Given the description of an element on the screen output the (x, y) to click on. 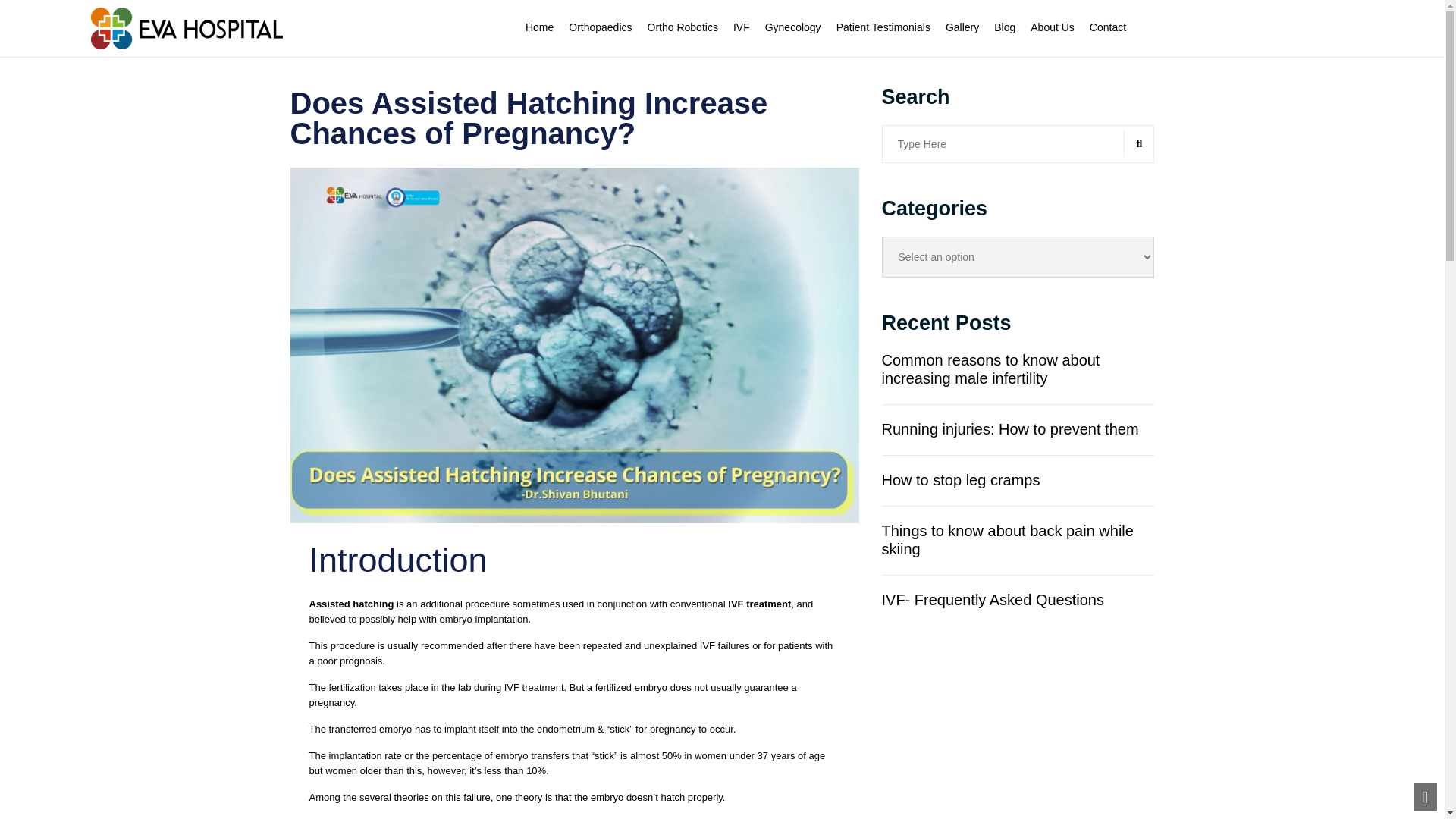
Ortho Robotics (682, 28)
IVF treatment (759, 603)
Gynecology (793, 28)
Orthopaedics (600, 28)
Eva Hospital (186, 28)
Ortho robotics (682, 28)
Assisted hatching (351, 603)
Orthopaedics (600, 28)
About Us (1052, 28)
About us (1052, 28)
Patient Testimonials (882, 28)
Patient testimonials (882, 28)
Gynecology (793, 28)
